Given the description of an element on the screen output the (x, y) to click on. 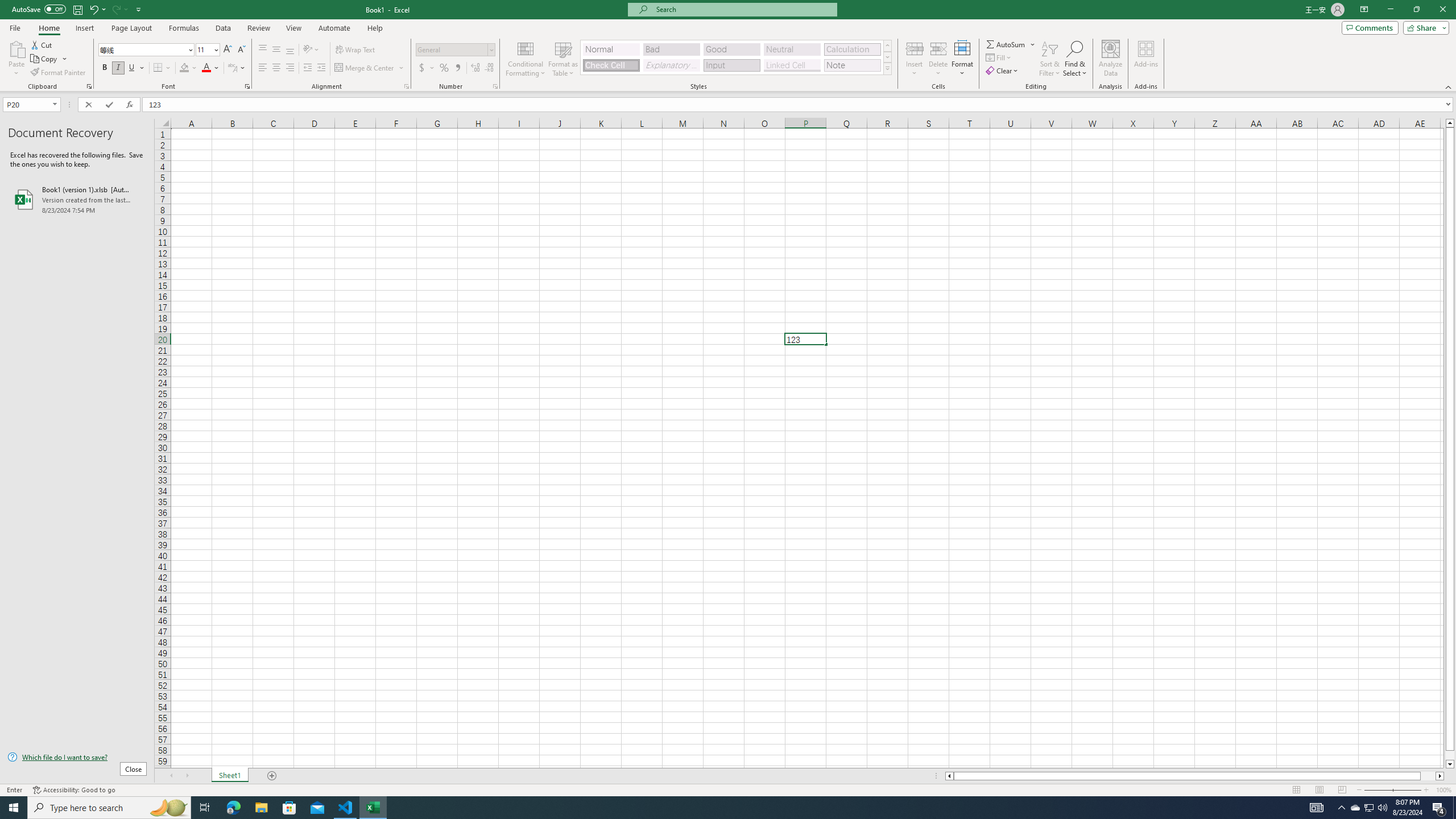
AutoSum (1011, 44)
Decrease Decimal (489, 67)
Quick Access Toolbar (77, 9)
Conditional Formatting (525, 58)
Font (147, 49)
Paste (16, 48)
Bad (671, 49)
Column right (1440, 775)
Increase Font Size (227, 49)
Explanatory Text (671, 65)
Sum (1006, 44)
Share (1423, 27)
Comma Style (457, 67)
Automate (334, 28)
